Given the description of an element on the screen output the (x, y) to click on. 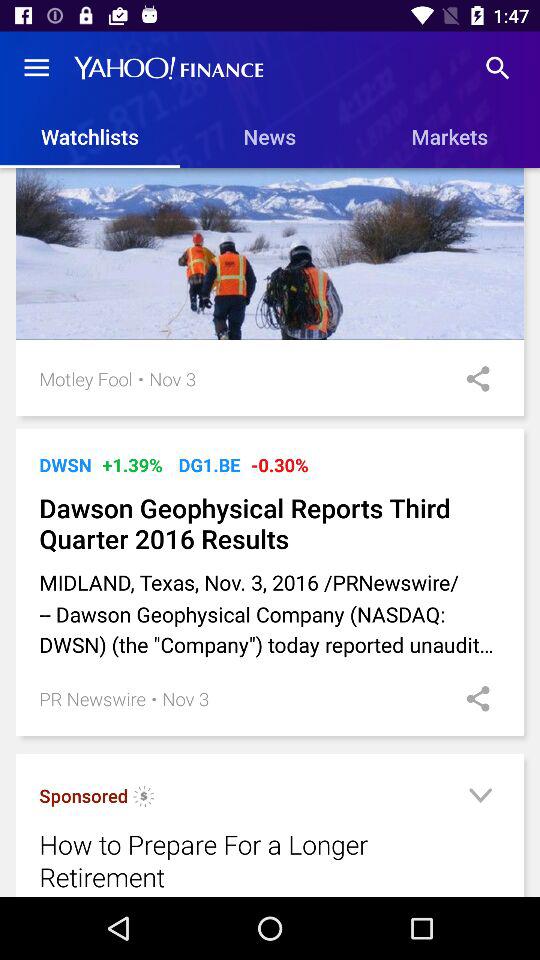
launch icon next to sponsored icon (143, 798)
